Given the description of an element on the screen output the (x, y) to click on. 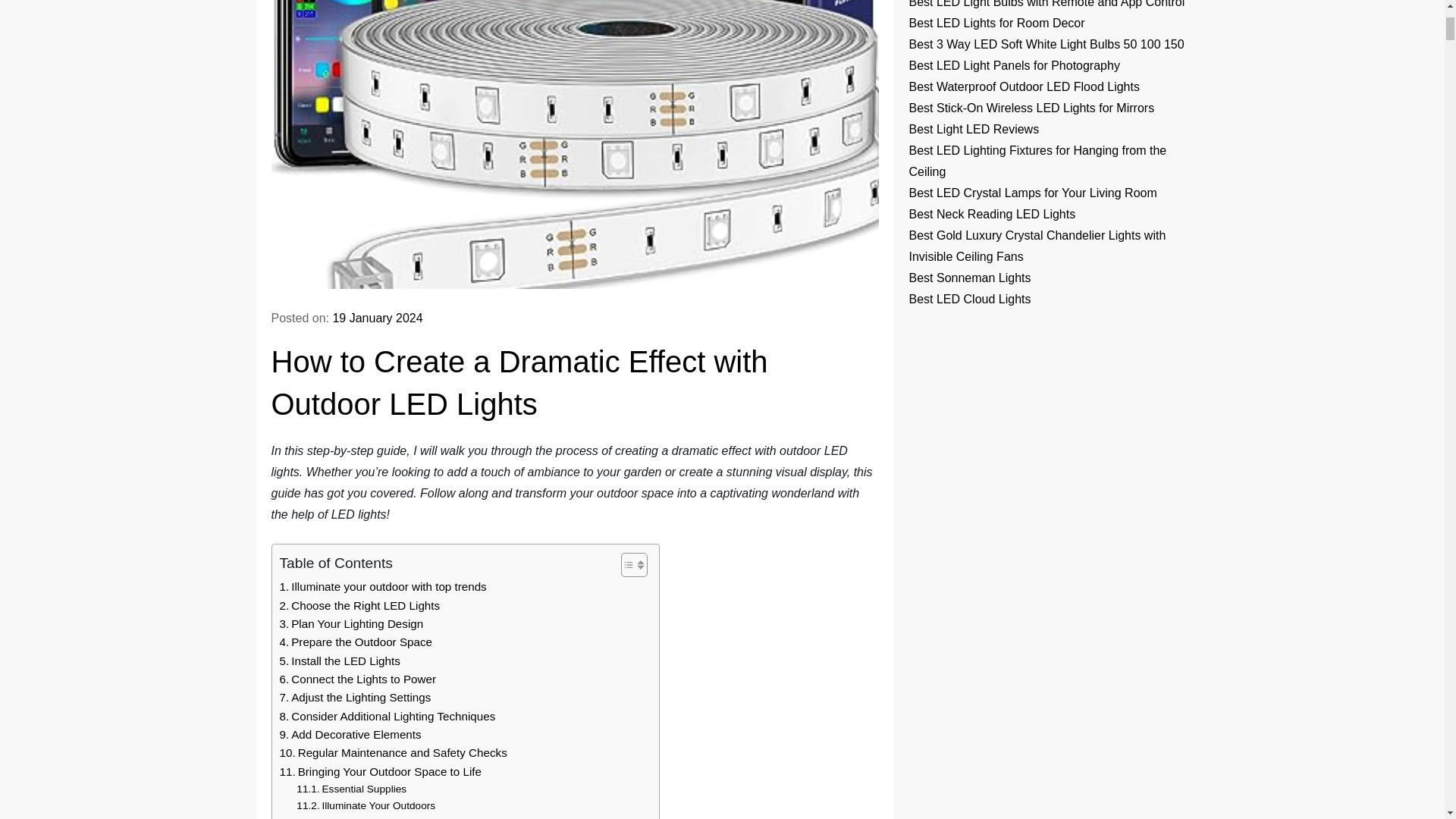
Regular Maintenance and Safety Checks (392, 752)
Choose the Right LED Lights (359, 606)
Plan Your Lighting Design (351, 624)
Prepare the Outdoor Space (354, 642)
Prepare the Outdoor Space (354, 642)
Add Decorative Elements (349, 734)
Connect the Lights to Power (357, 679)
Connect the Lights to Power (357, 679)
Essential Supplies (351, 789)
